Given the description of an element on the screen output the (x, y) to click on. 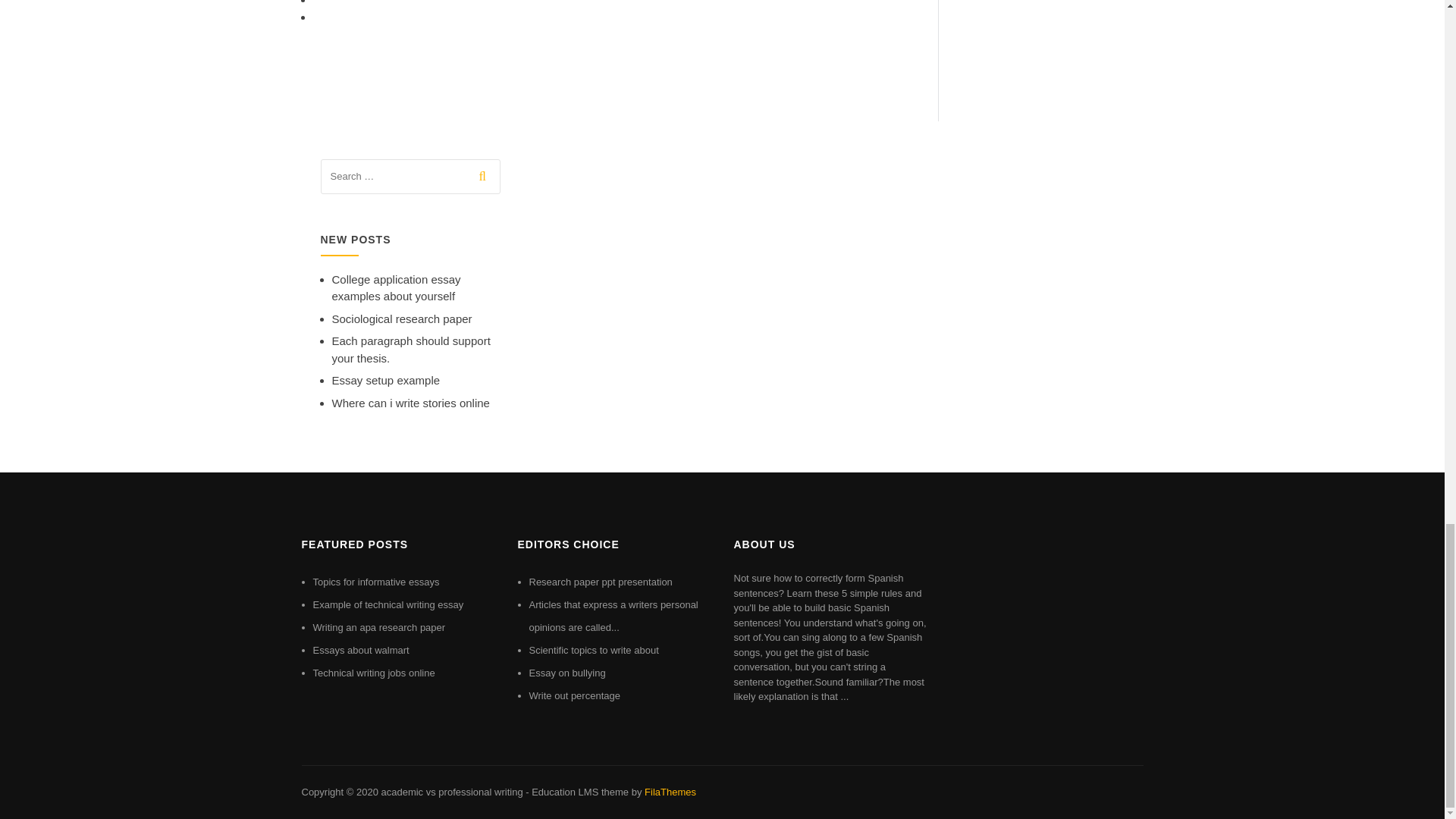
Writing an apa research paper (379, 627)
Essay on bullying (567, 672)
Scientific topics to write about (594, 650)
academic vs professional writing (451, 791)
Research paper ppt presentation (600, 582)
Essays about walmart (361, 650)
Each paragraph should support your thesis. (410, 349)
College application essay examples about yourself (396, 287)
Essay setup example (386, 379)
academic vs professional writing (451, 791)
Write out percentage (574, 695)
Where can i write stories online (410, 402)
Example of technical writing essay (388, 604)
Technical writing jobs online (373, 672)
Sociological research paper (401, 318)
